Given the description of an element on the screen output the (x, y) to click on. 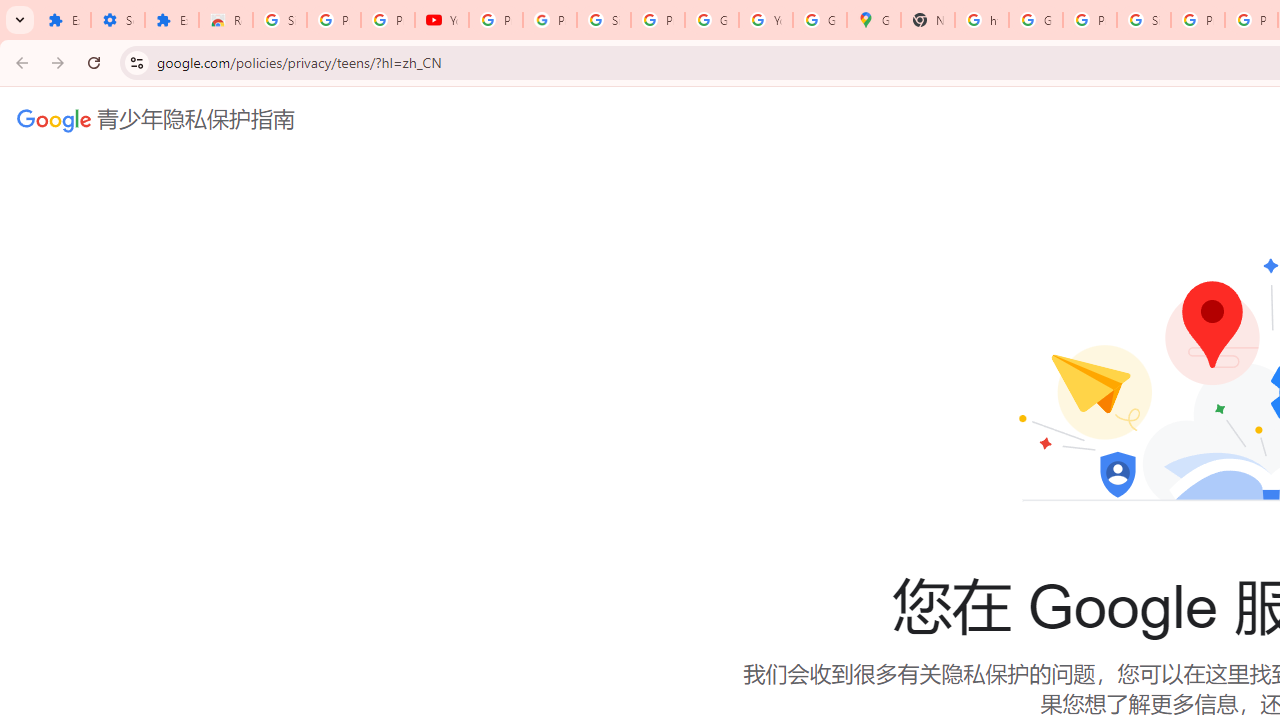
Reviews: Helix Fruit Jump Arcade Game (225, 20)
Google Maps (874, 20)
YouTube (441, 20)
